Given the description of an element on the screen output the (x, y) to click on. 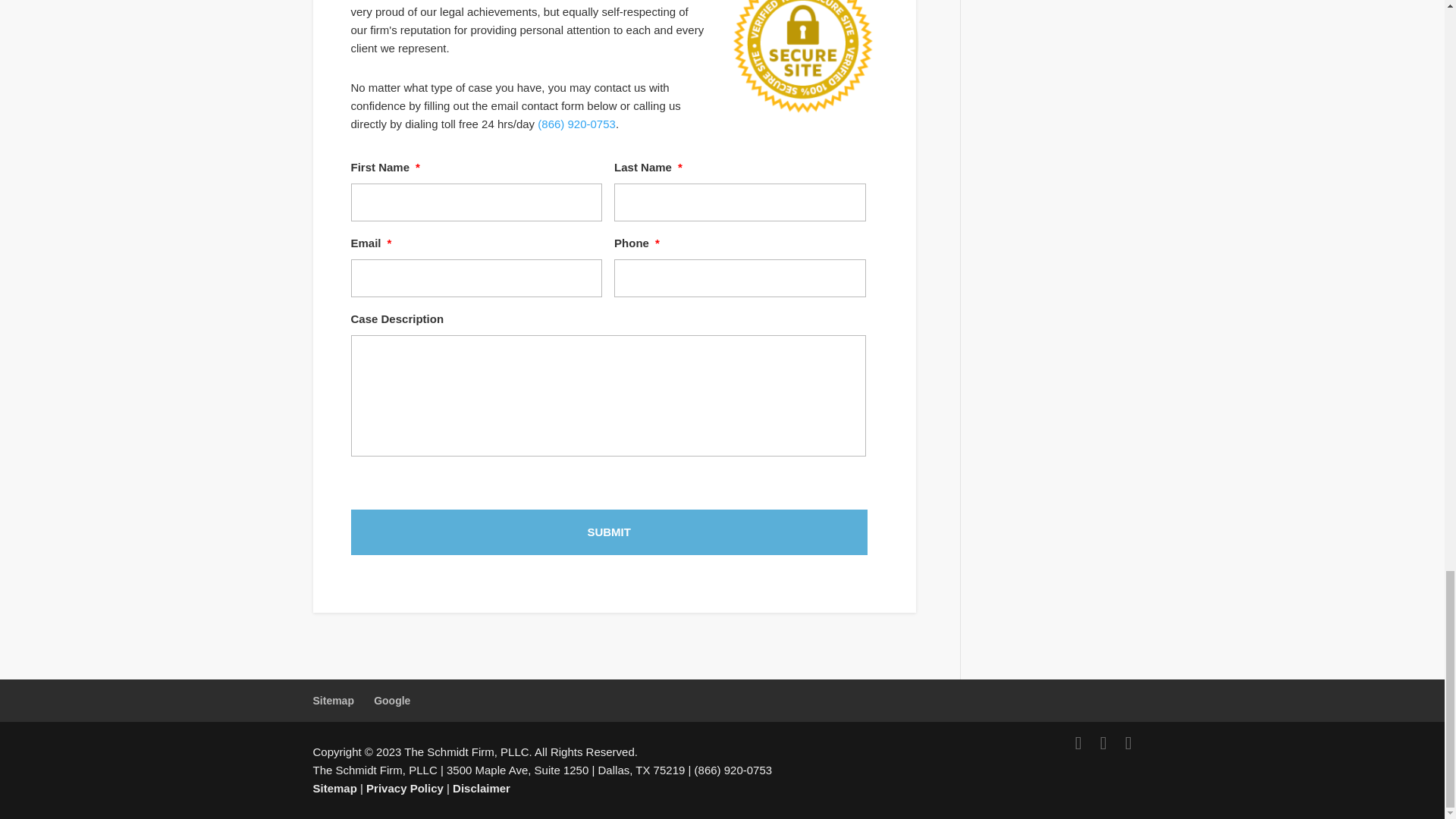
Submit (608, 532)
